Given the description of an element on the screen output the (x, y) to click on. 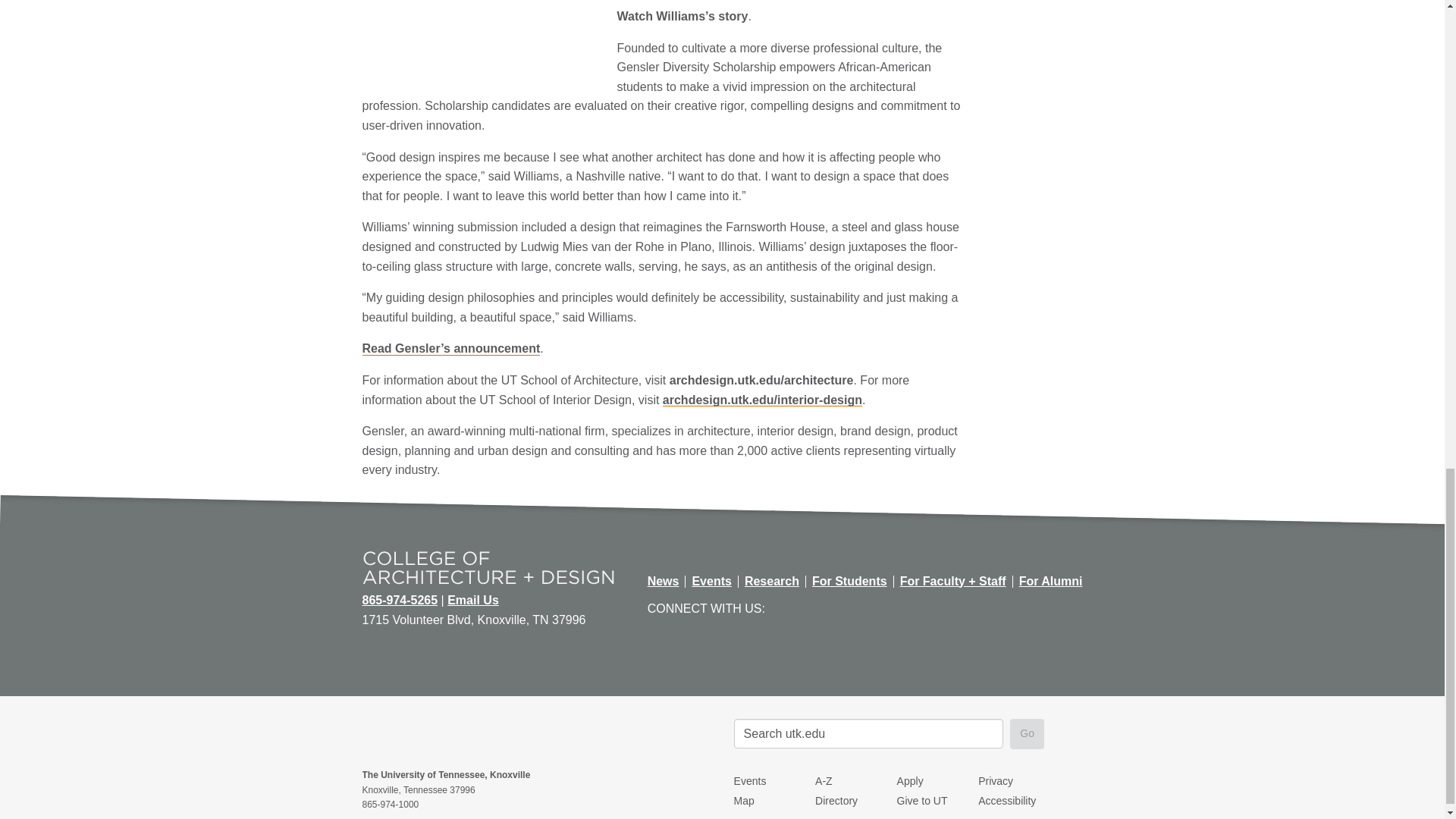
Email Us (472, 599)
twitter (813, 607)
Go (1026, 733)
facebook (781, 607)
News (663, 581)
Search UT Knoxville (868, 733)
youtube (842, 607)
For Students (849, 581)
Search utk.edu (868, 733)
instagram (874, 607)
